Given the description of an element on the screen output the (x, y) to click on. 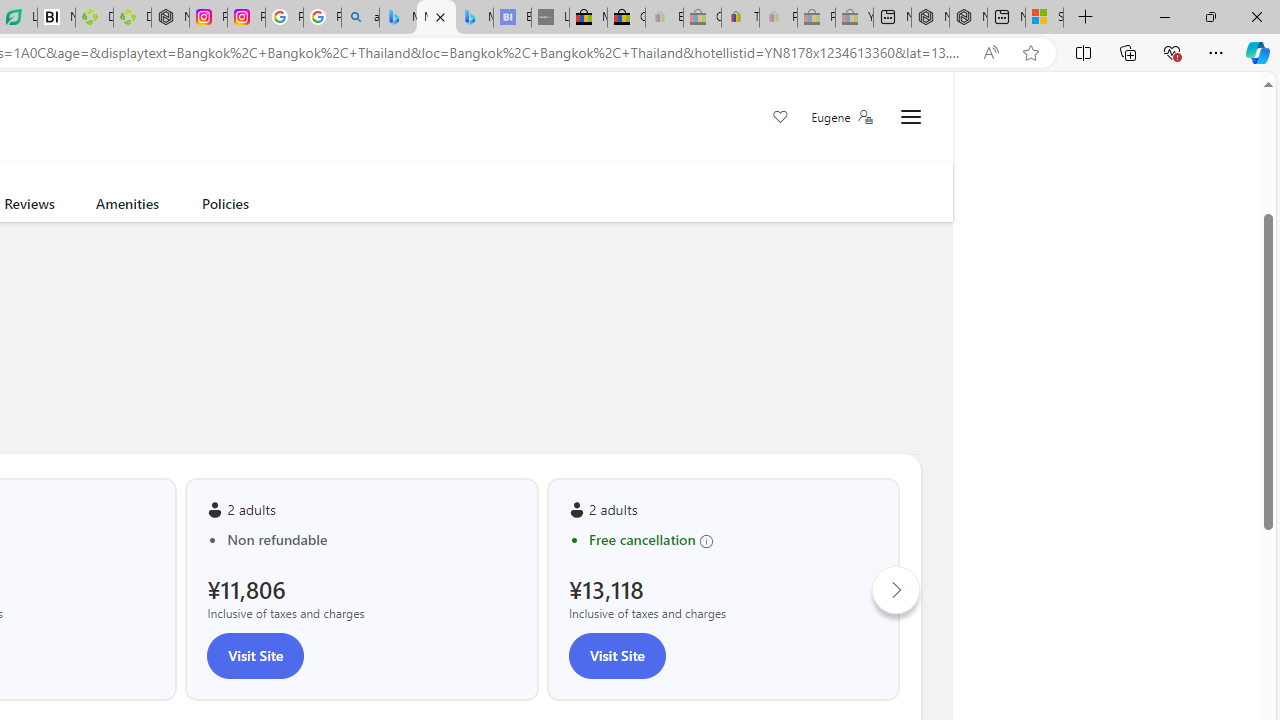
Eugene (841, 117)
Save (780, 118)
Free cancellation (733, 540)
Threats and offensive language policy | eBay (740, 17)
Microsoft Bing Travel - Shangri-La Hotel Bangkok (473, 17)
+12 More Amenities (36, 161)
Yard, Garden & Outdoor Living - Sleeping (853, 17)
Non refundable (371, 539)
Click to scroll right (896, 589)
Nordace - Summer Adventures 2024 (967, 17)
